Given the description of an element on the screen output the (x, y) to click on. 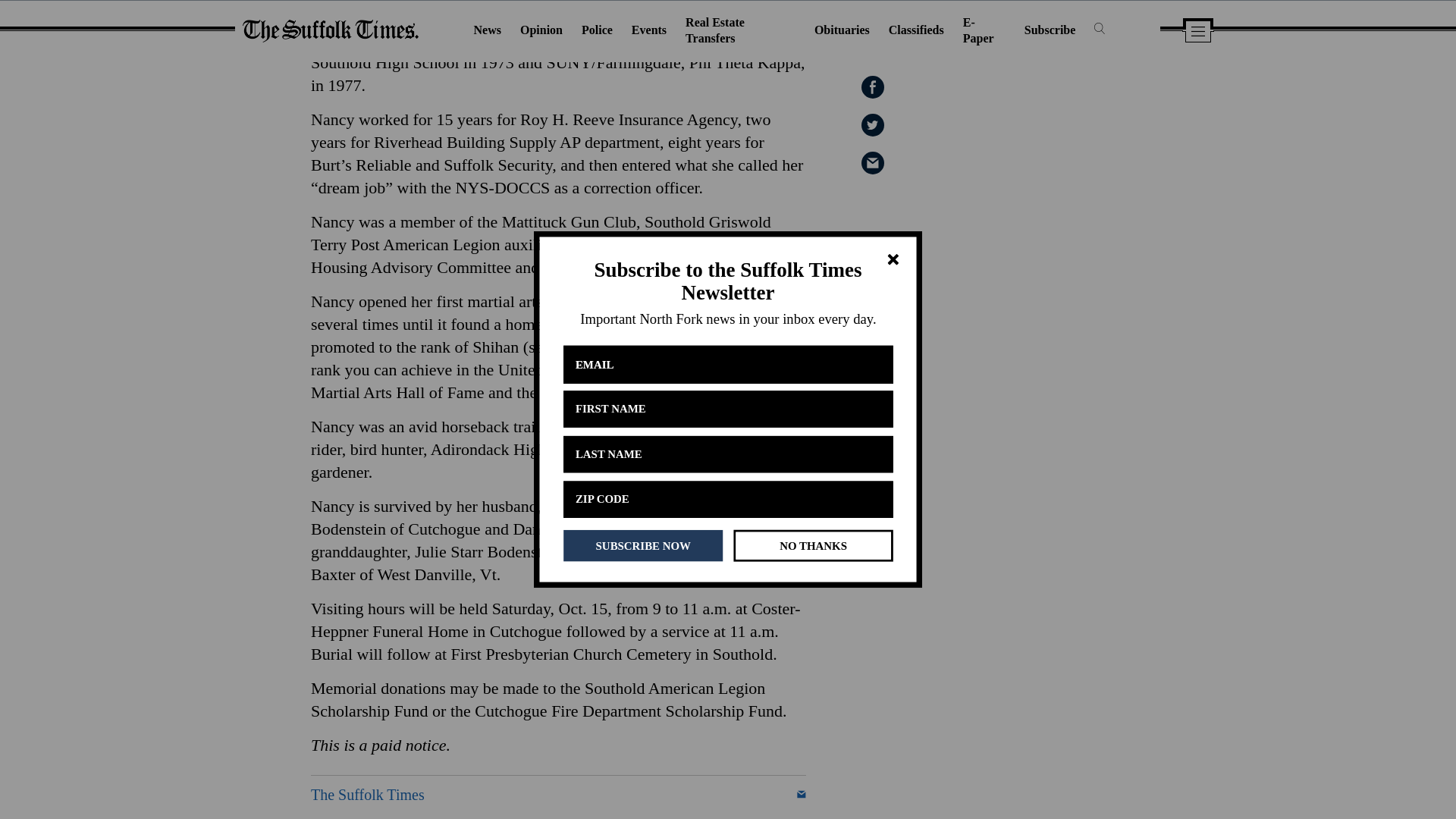
Email Created with Sketch. (801, 794)
